Given the description of an element on the screen output the (x, y) to click on. 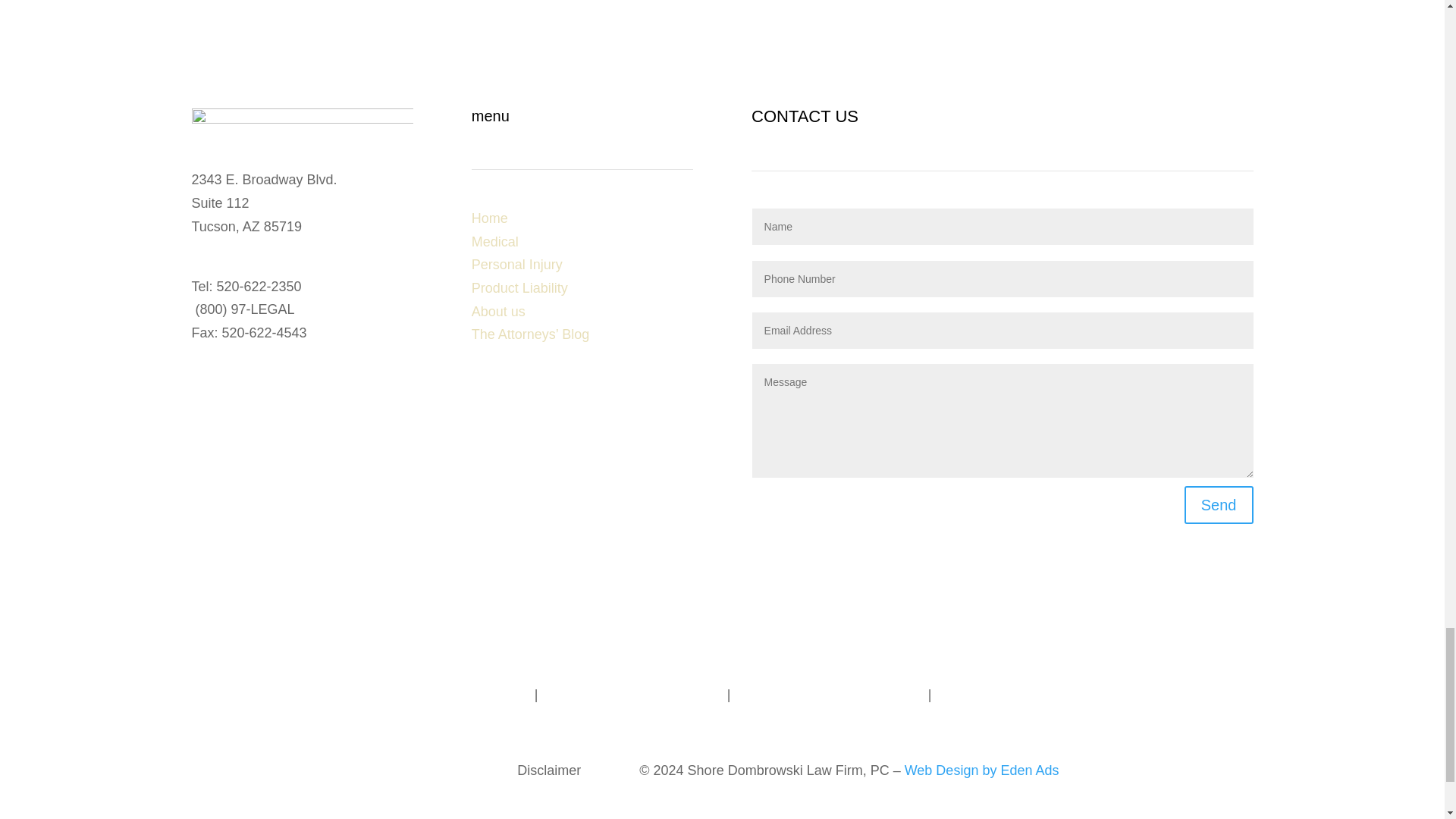
About us (498, 311)
Personal Injury (516, 264)
Follow on LinkedIn (202, 385)
Home (489, 218)
Send (1219, 505)
Tucson Personal Injury Attorneys (432, 694)
Medical (494, 241)
Product Liability (519, 287)
